Given the description of an element on the screen output the (x, y) to click on. 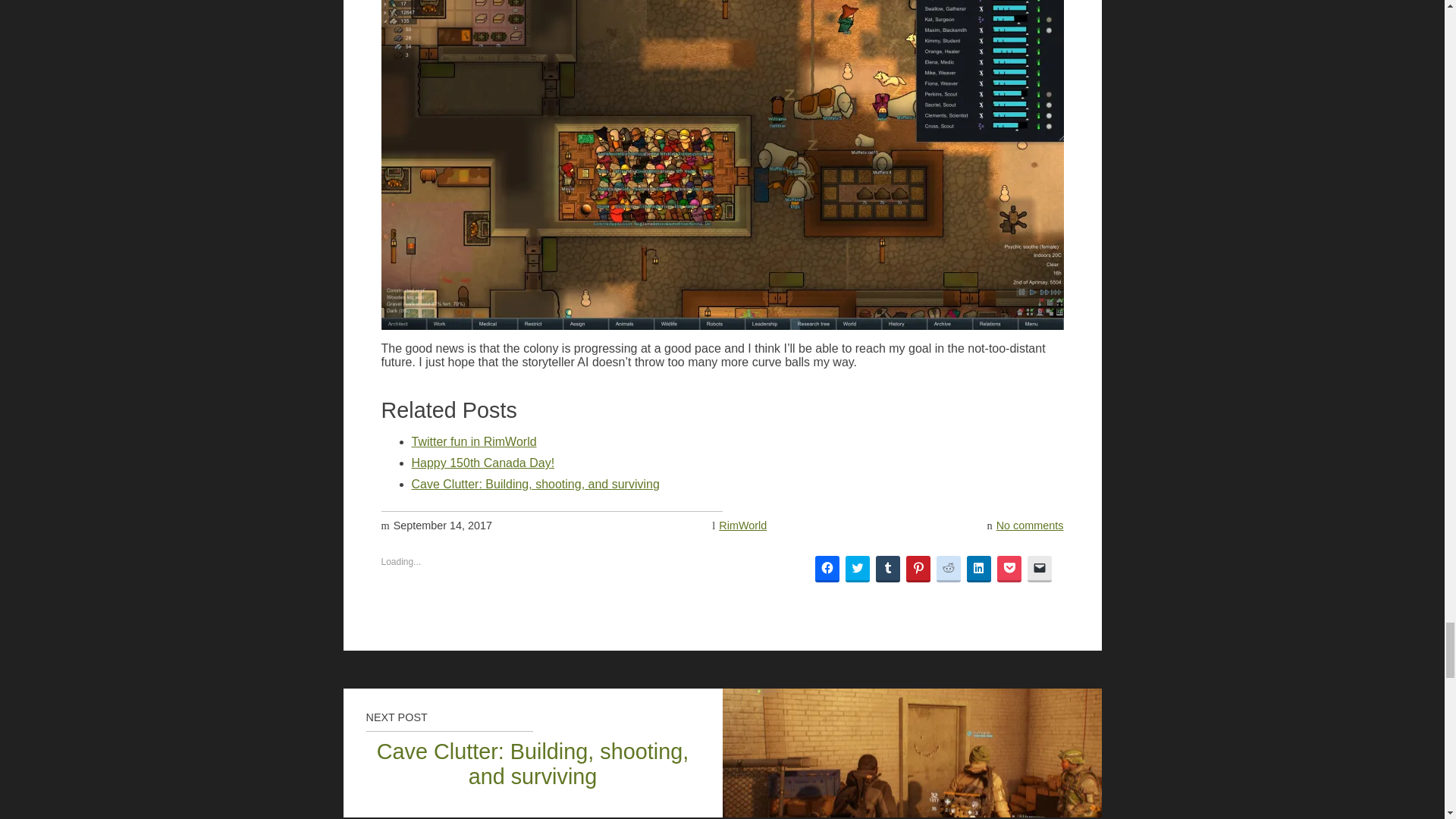
Click to email a link to a friend (1038, 569)
Click to share on Pinterest (917, 569)
Click to share on LinkedIn (978, 569)
Click to share on Pocket (1007, 569)
Cave Clutter: Building, shooting, and surviving (534, 483)
Happy 150th Canada Day! (482, 462)
Twitter fun in RimWorld (472, 440)
Click to share on Facebook (825, 569)
Click to share on Tumblr (887, 569)
Click to share on Twitter (856, 569)
Click to share on Reddit (947, 569)
